Given the description of an element on the screen output the (x, y) to click on. 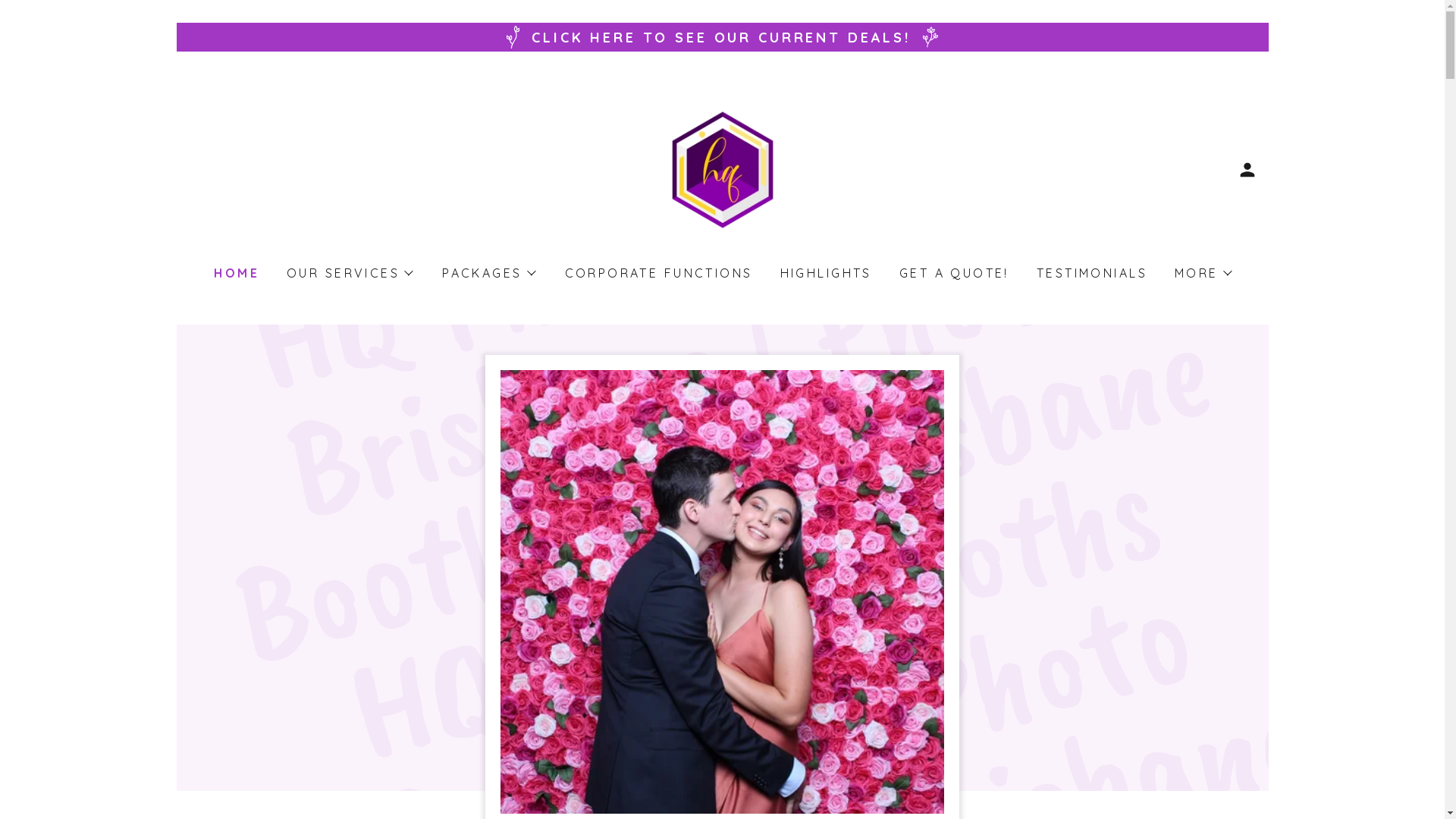
TESTIMONIALS Element type: text (1090, 272)
CLICK HERE TO SEE OUR CURRENT DEALS! Element type: text (721, 36)
MORE Element type: text (1202, 272)
HIGHLIGHTS Element type: text (824, 272)
CORPORATE FUNCTIONS Element type: text (656, 272)
HOME Element type: text (234, 272)
PACKAGES Element type: text (487, 272)
HQ Photo Booths Element type: hover (721, 168)
GET A QUOTE! Element type: text (952, 272)
OUR SERVICES Element type: text (348, 272)
